Given the description of an element on the screen output the (x, y) to click on. 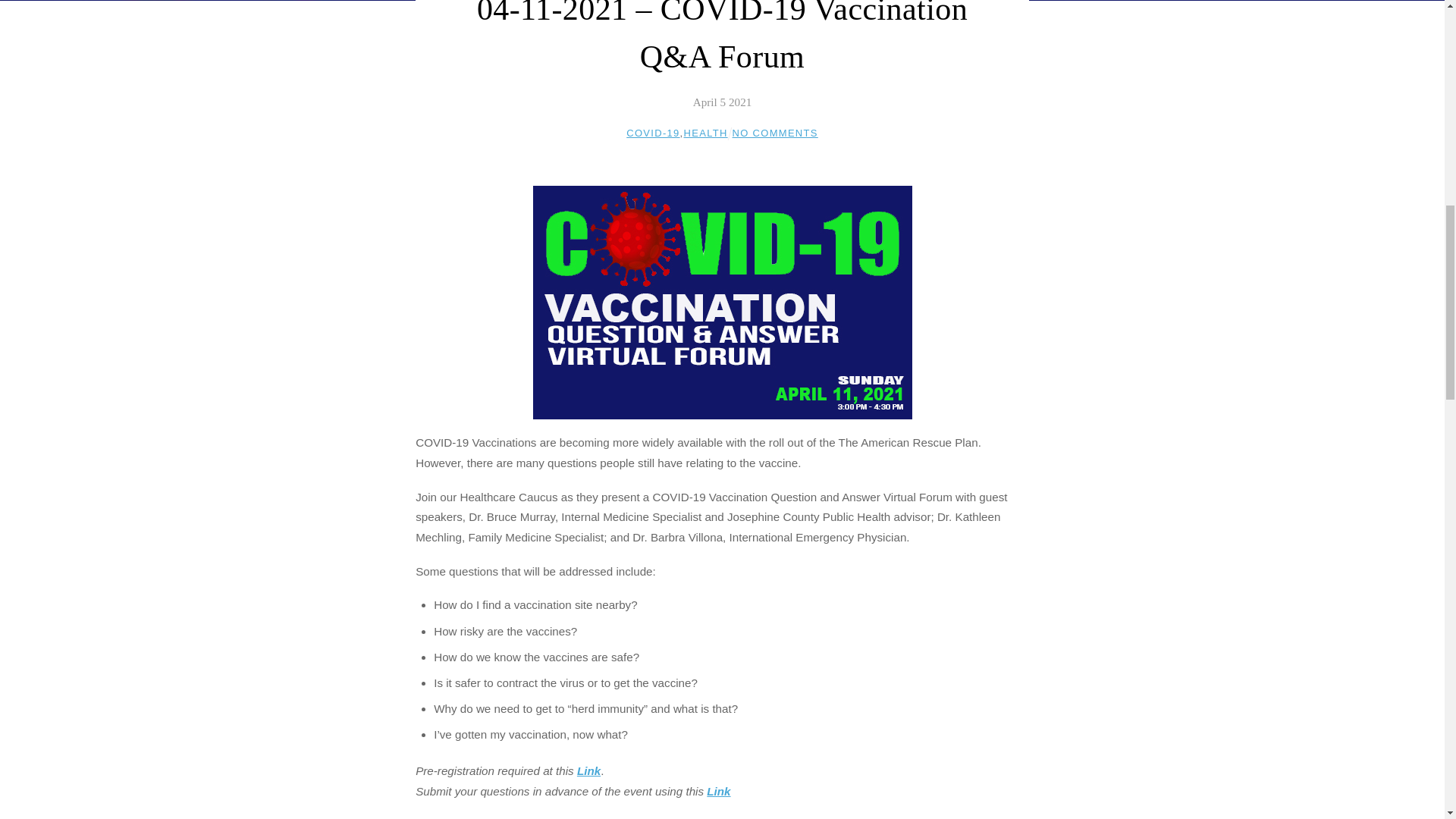
Link (587, 770)
NO COMMENTS (775, 132)
Link (718, 790)
COVID-19 (652, 132)
HEALTH (706, 132)
